Given the description of an element on the screen output the (x, y) to click on. 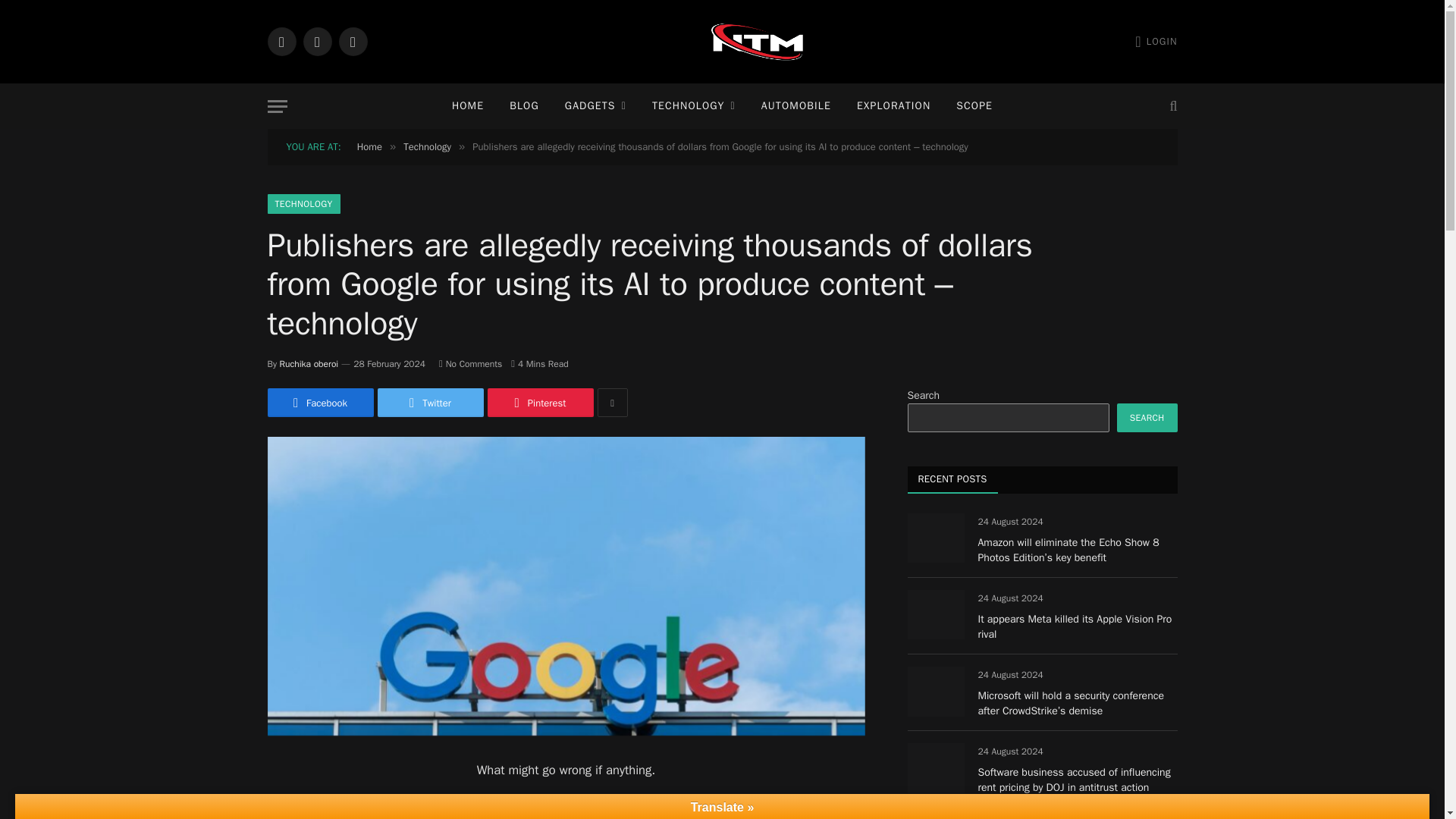
Facebook (319, 402)
EXPLORATION (893, 105)
Share on Facebook (319, 402)
Instagram (351, 41)
Posts by Ruchika oberoi (309, 363)
Home (368, 146)
Share on Pinterest (539, 402)
LOGIN (1155, 41)
HOME (467, 105)
Pinterest (539, 402)
